Given the description of an element on the screen output the (x, y) to click on. 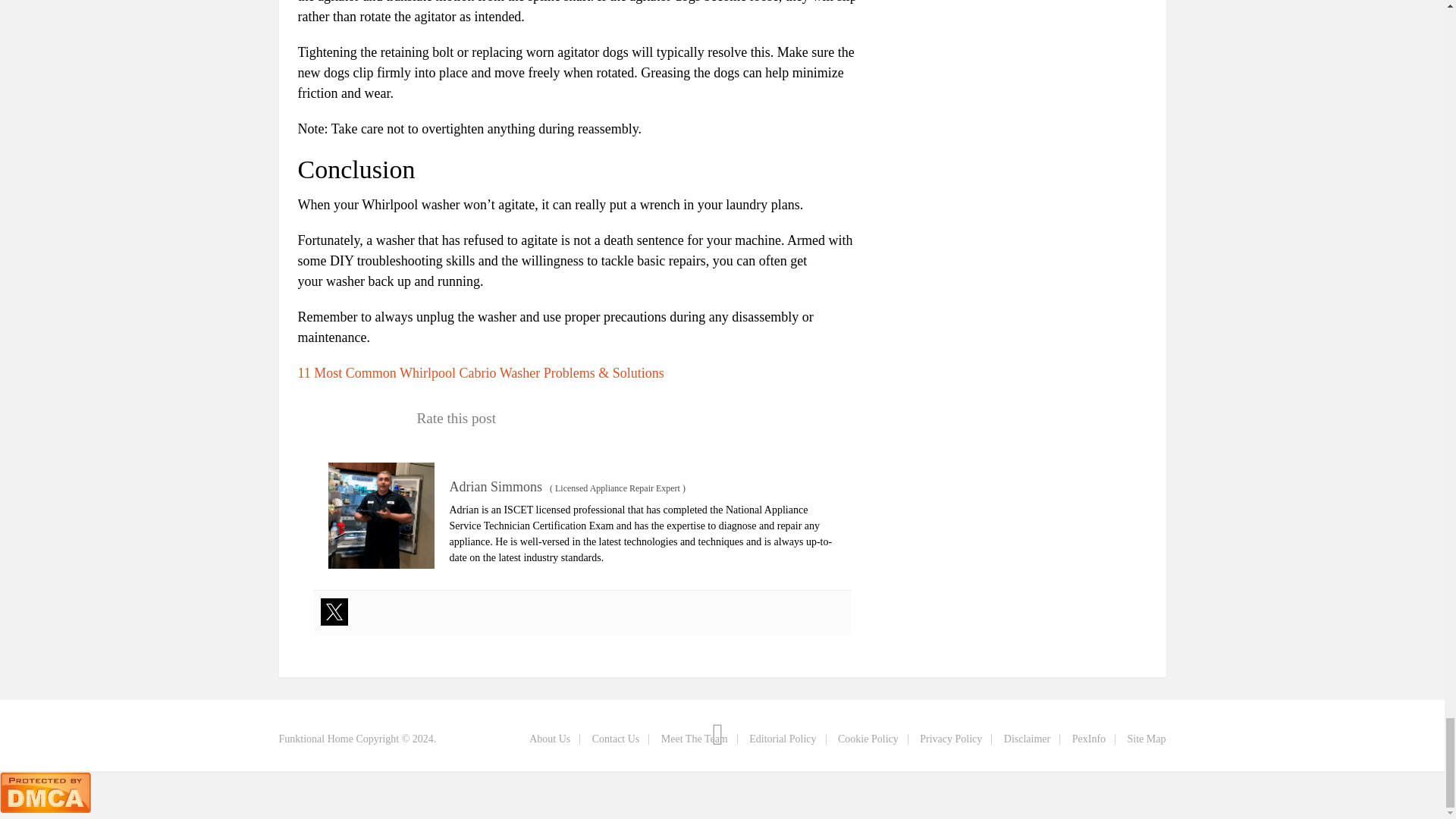
Adrian Simmons (494, 486)
